Given the description of an element on the screen output the (x, y) to click on. 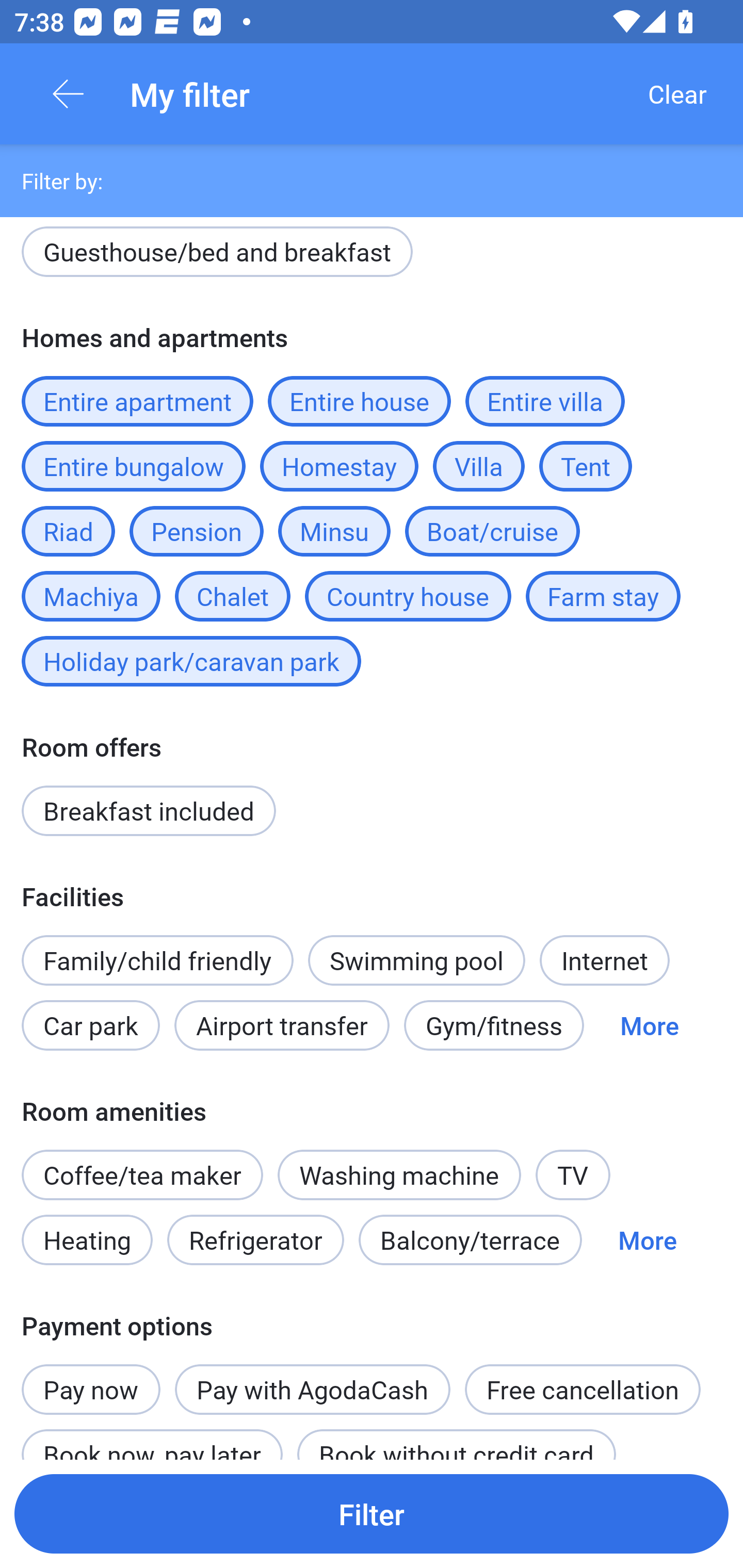
Clear (676, 93)
Guesthouse/bed and breakfast (217, 255)
Breakfast included (148, 810)
Family/child friendly (157, 960)
Swimming pool (416, 960)
Internet (604, 960)
Car park (90, 1025)
Airport transfer (281, 1025)
Gym/fitness (493, 1025)
More (649, 1025)
Coffee/tea maker (142, 1175)
Washing machine (398, 1175)
TV (572, 1175)
Heating (87, 1239)
Refrigerator (255, 1239)
Balcony/terrace (469, 1239)
More (647, 1239)
Pay now (90, 1378)
Pay with AgodaCash (312, 1389)
Free cancellation (582, 1389)
Filter (371, 1513)
